Given the description of an element on the screen output the (x, y) to click on. 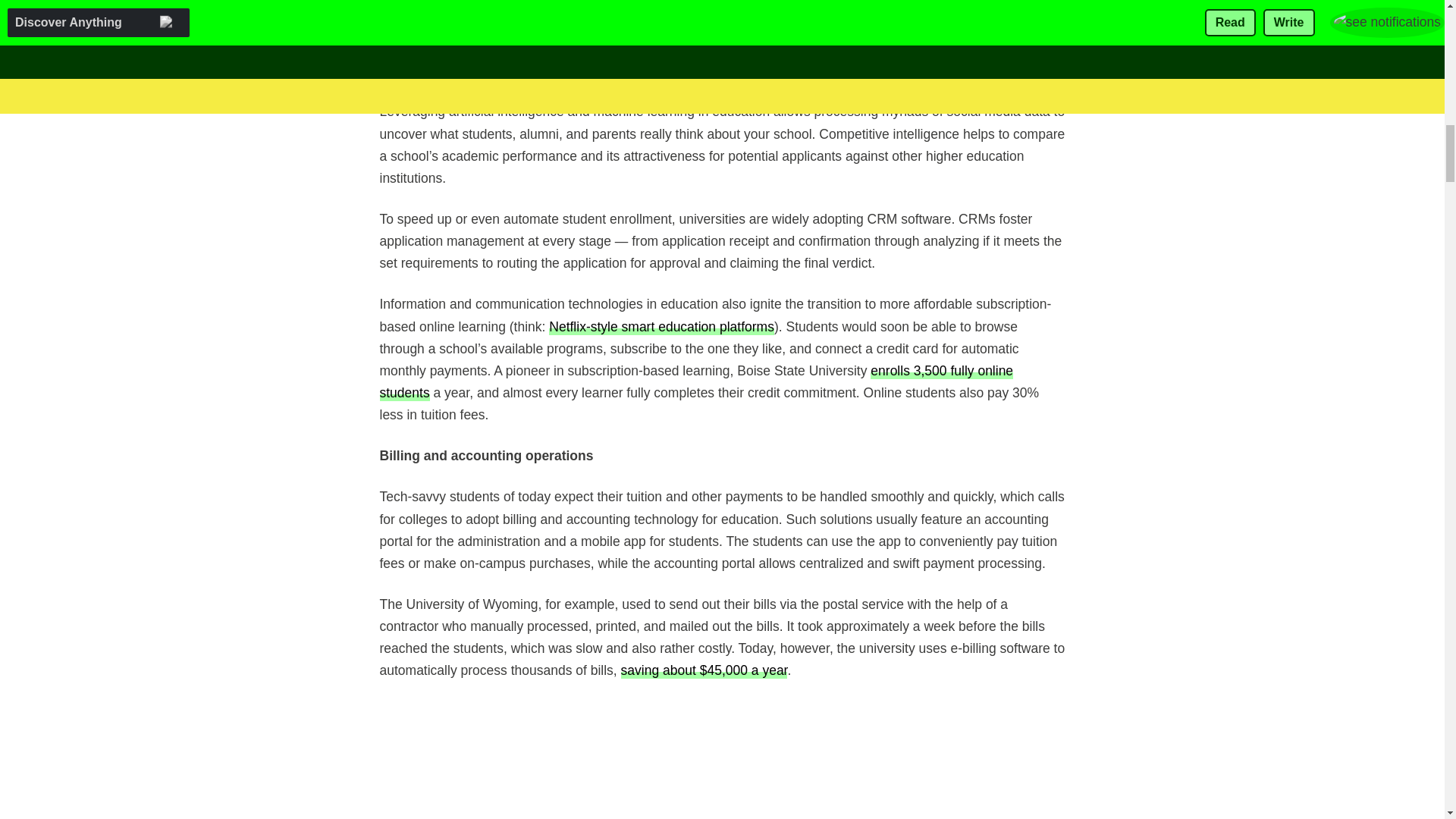
Data analytics (420, 47)
Netflix-style smart education platforms (661, 325)
enrolls 3,500 fully online students (695, 381)
